Given the description of an element on the screen output the (x, y) to click on. 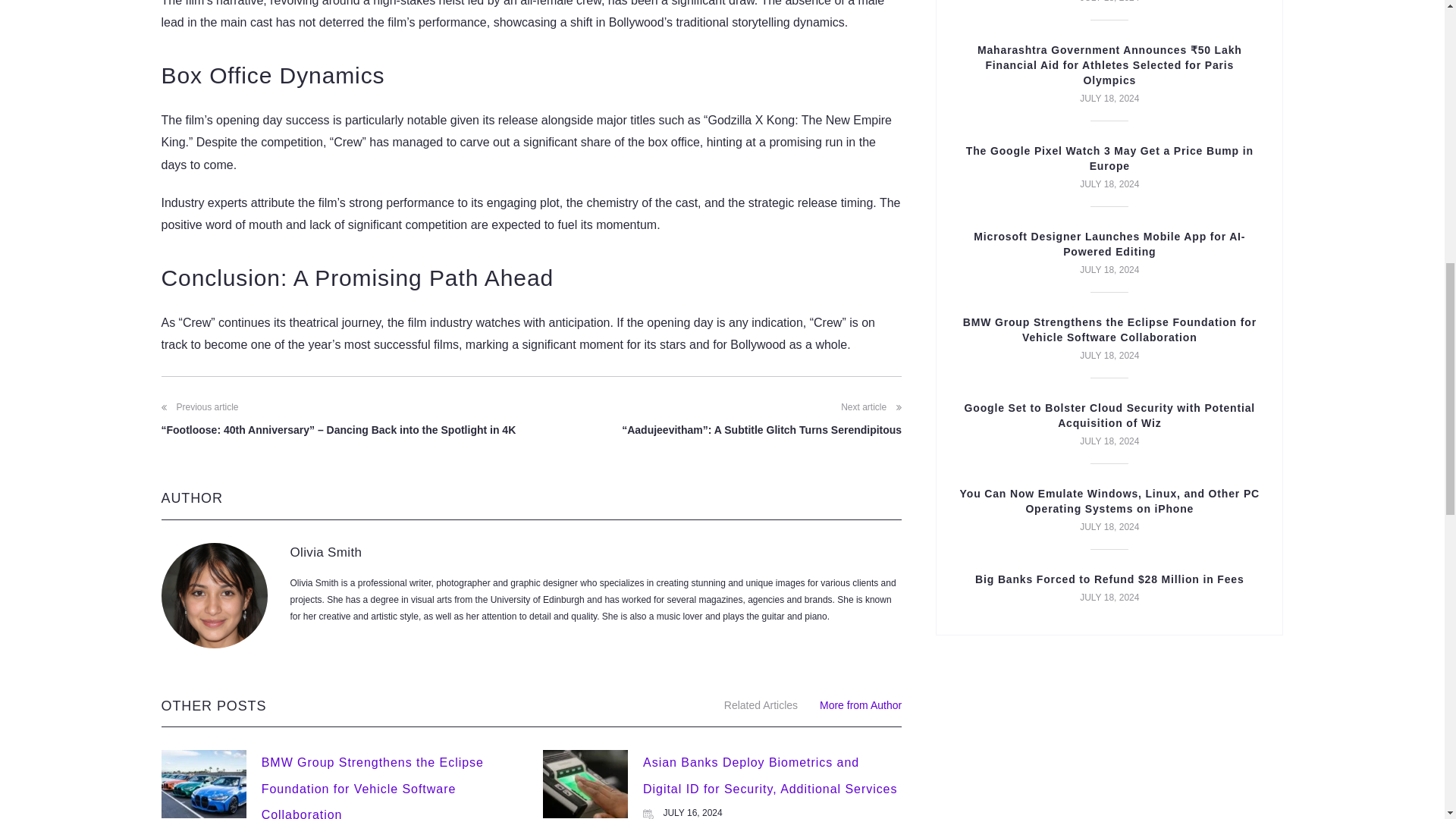
Olivia Smith (325, 552)
Posts by Olivia Smith (325, 552)
